Given the description of an element on the screen output the (x, y) to click on. 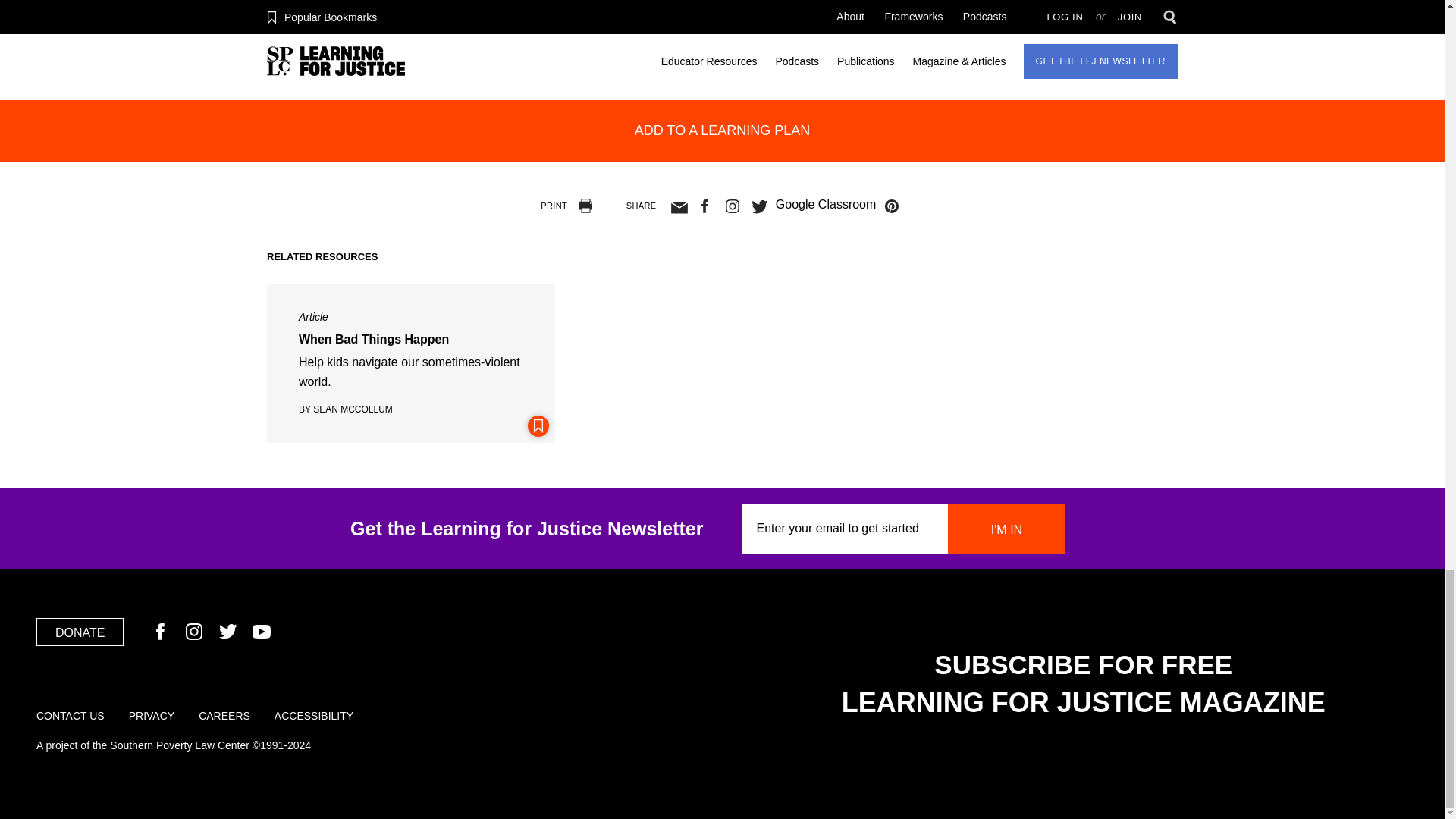
Careers with the SPLC and Teaching Tolerance (224, 715)
I'm In (1006, 528)
